Given the description of an element on the screen output the (x, y) to click on. 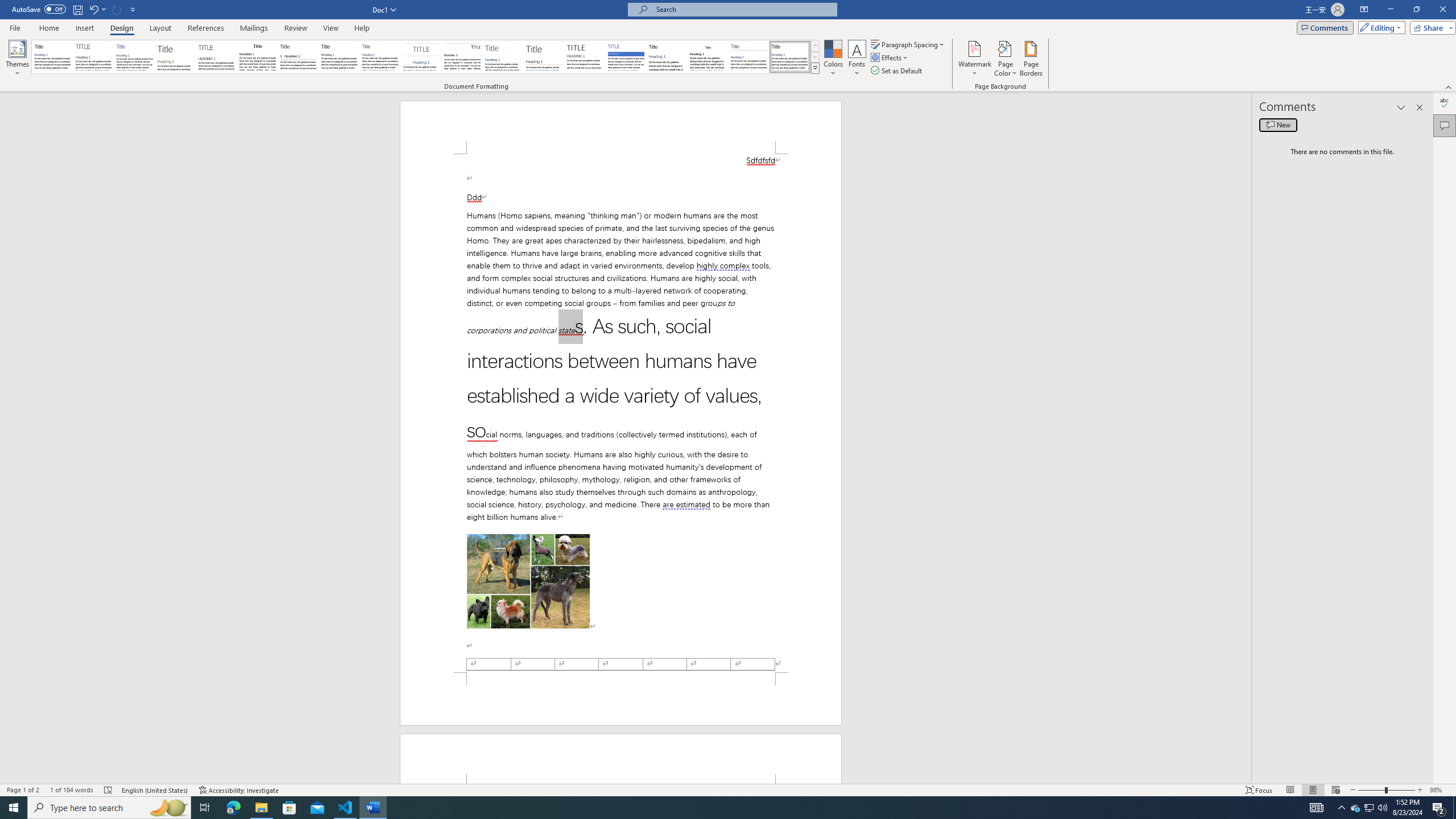
AutomationID: QuickStylesSets (425, 56)
Black & White (Numbered) (298, 56)
Page Color (1005, 58)
Page 1 content (620, 412)
Basic (Simple) (135, 56)
Accessibility Checker Accessibility: Investigate (239, 790)
Black & White (Capitalized) (216, 56)
Themes (17, 58)
Can't Repeat (117, 9)
